Given the description of an element on the screen output the (x, y) to click on. 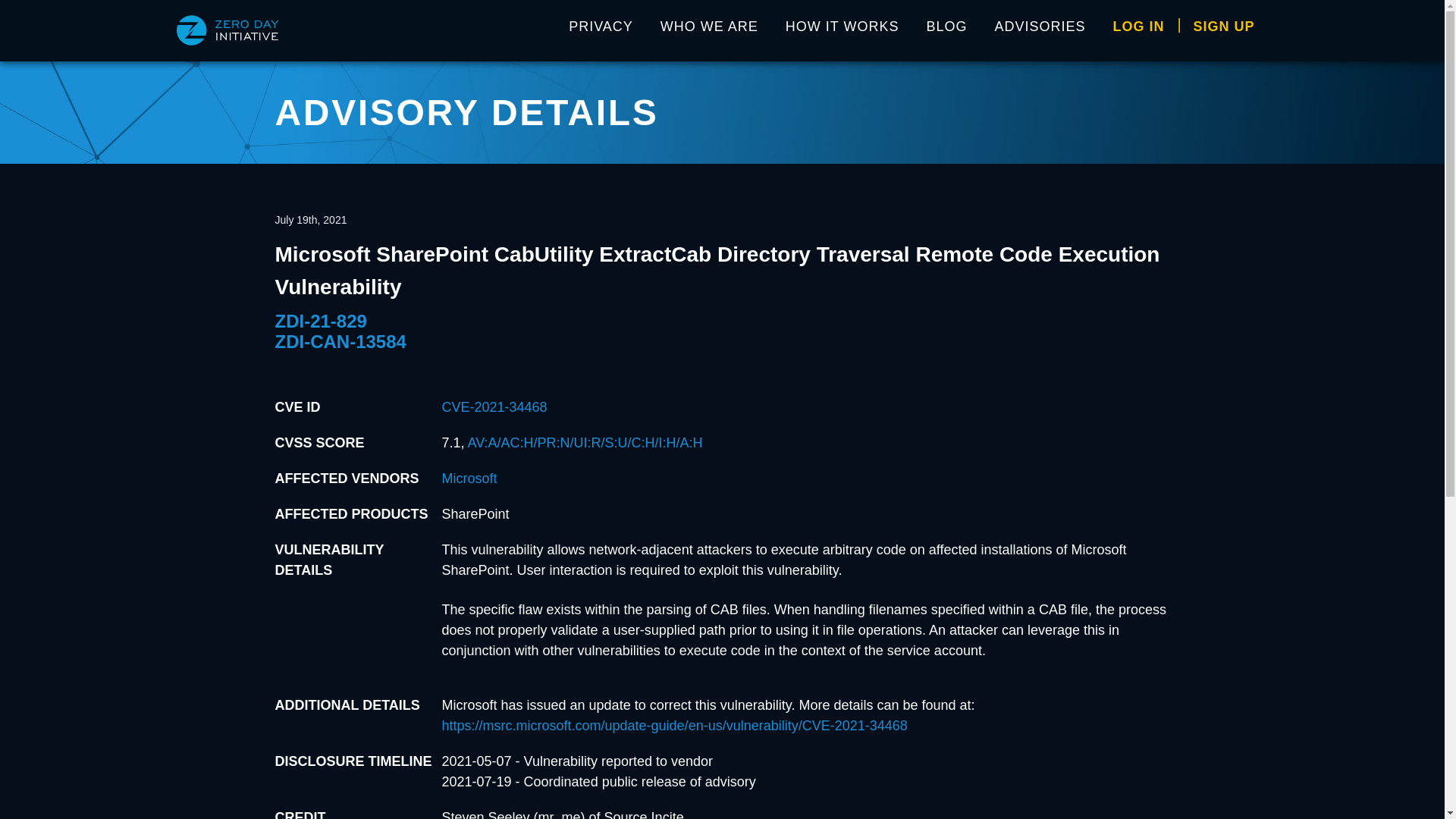
PRIVACY (600, 30)
SIGN UP (1224, 30)
BLOG (946, 30)
WHO WE ARE (708, 30)
LOG IN (1138, 30)
HOW IT WORKS (841, 30)
CVE-2021-34468 (494, 406)
Microsoft (468, 478)
ADVISORIES (1040, 30)
